Given the description of an element on the screen output the (x, y) to click on. 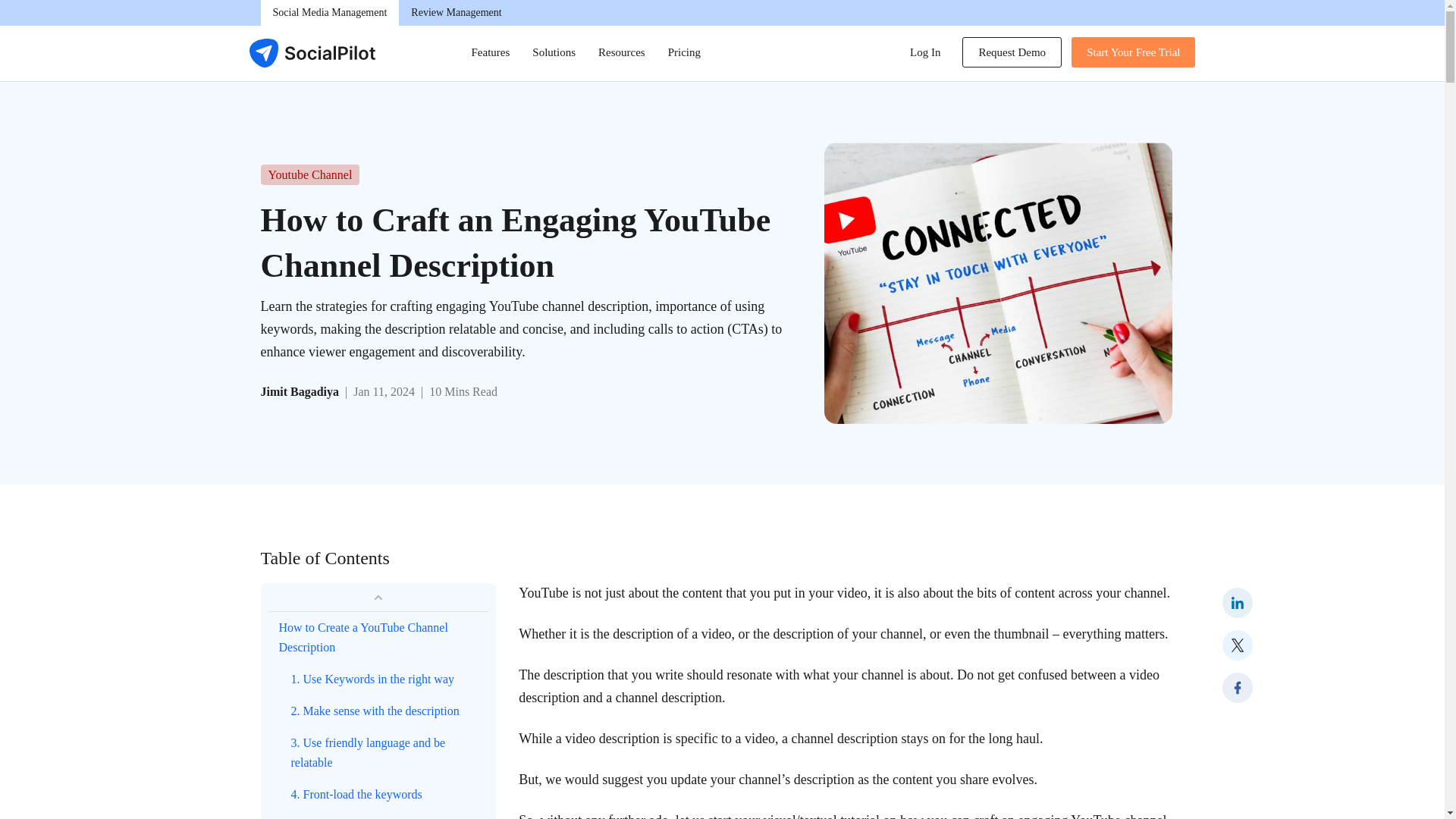
How to Create a YouTube Channel Description (387, 637)
Social Media Management (329, 12)
Pricing (1133, 51)
Solutions (553, 53)
Features (490, 53)
Request Demo (1011, 51)
3. Use friendly language and be relatable (390, 752)
Log In (925, 51)
2. Make sense with the description (390, 711)
Review Management (455, 12)
Jimit Bagadiya (299, 391)
Resources (621, 53)
SocialPilot (311, 52)
1. Use Keywords in the right way (390, 679)
